Given the description of an element on the screen output the (x, y) to click on. 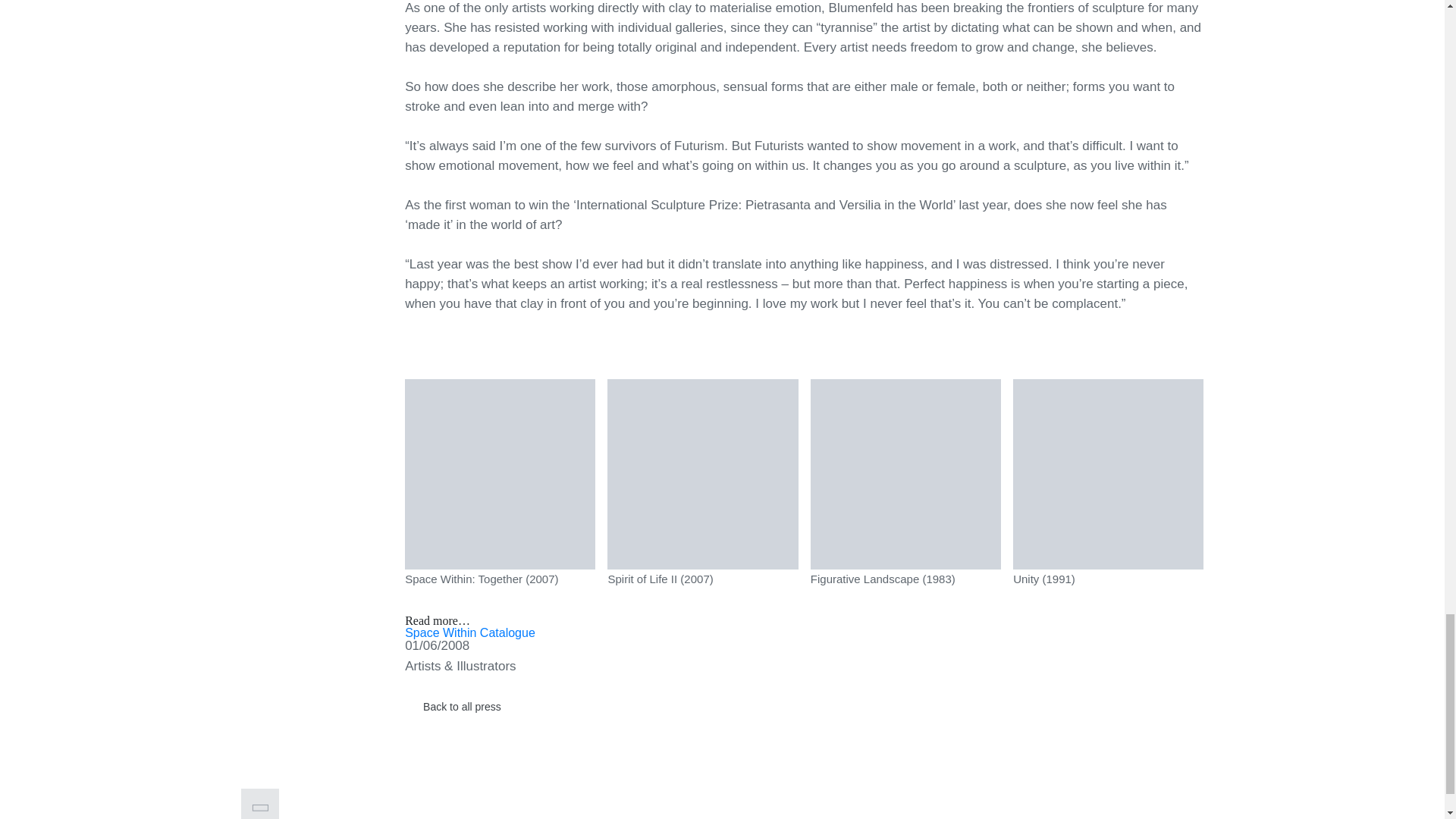
Space Within Catalogue (469, 632)
Space Within Catalogue (469, 632)
Back to all press (452, 706)
